Given the description of an element on the screen output the (x, y) to click on. 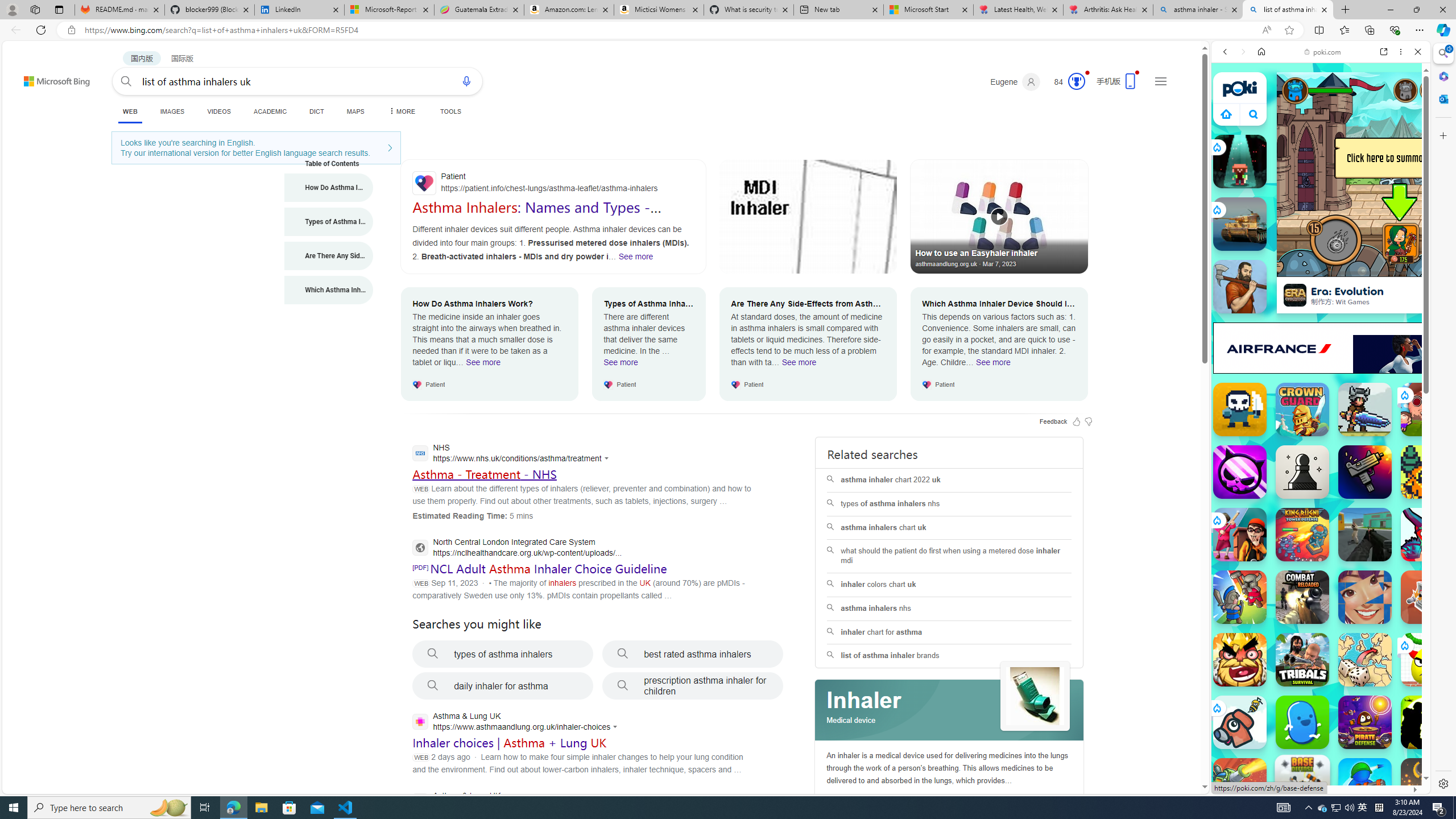
list of asthma inhalers uk - Search (1287, 9)
Goober World (1302, 722)
Base Defense (1302, 782)
Search more (1179, 753)
Swatforce vs Terrorists (1427, 722)
Castle Woodwarf (1239, 286)
Goober World Goober World (1302, 722)
Combat Online (1364, 534)
inhaler chart for asthma (949, 632)
Apple Knight: Mini Dungeons (1364, 409)
asthma inhalers nhs (949, 608)
TOOLS (450, 111)
